Given the description of an element on the screen output the (x, y) to click on. 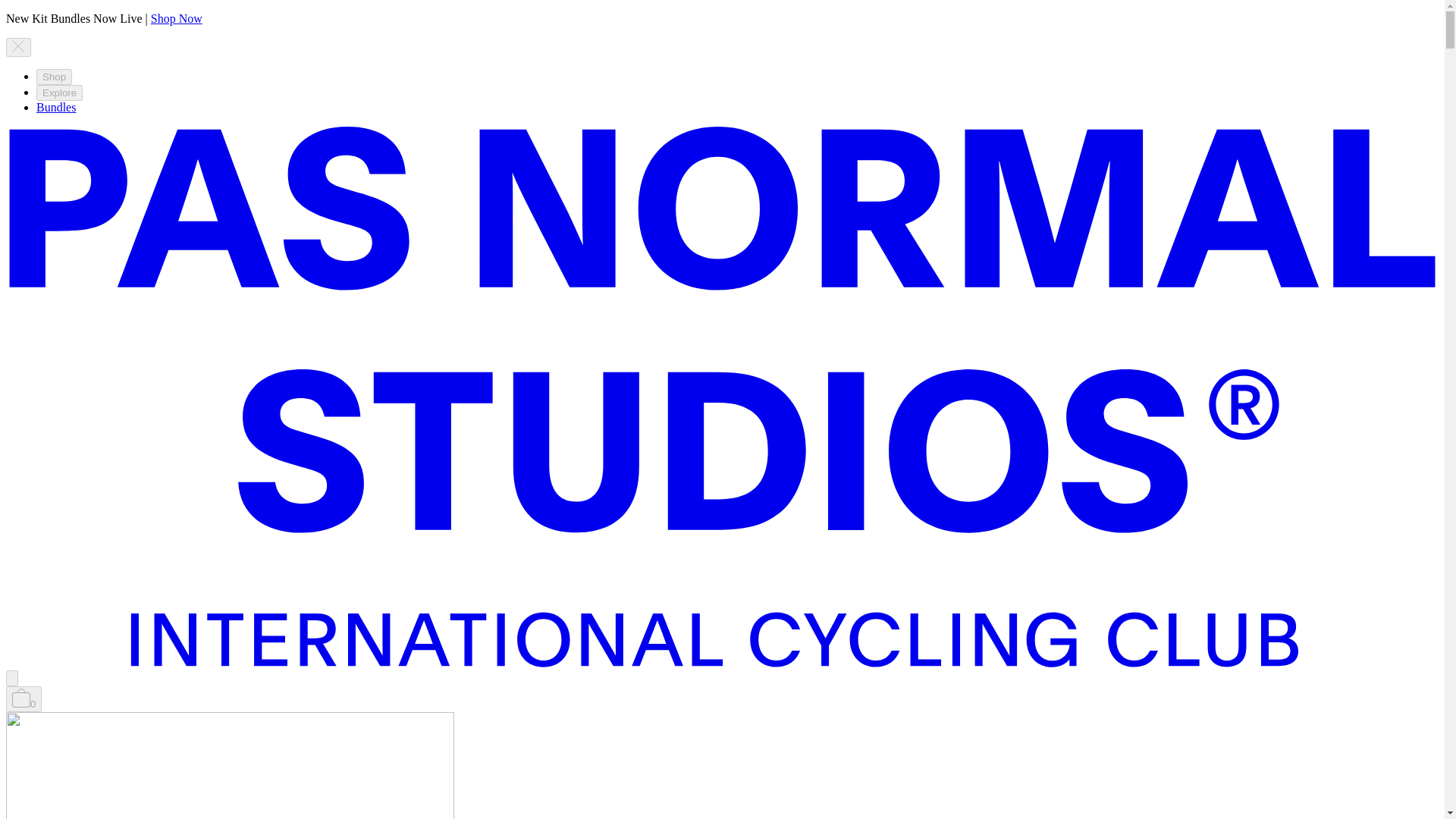
Shop Now (176, 18)
Shop (53, 76)
0 (23, 698)
Explore (59, 92)
